Given the description of an element on the screen output the (x, y) to click on. 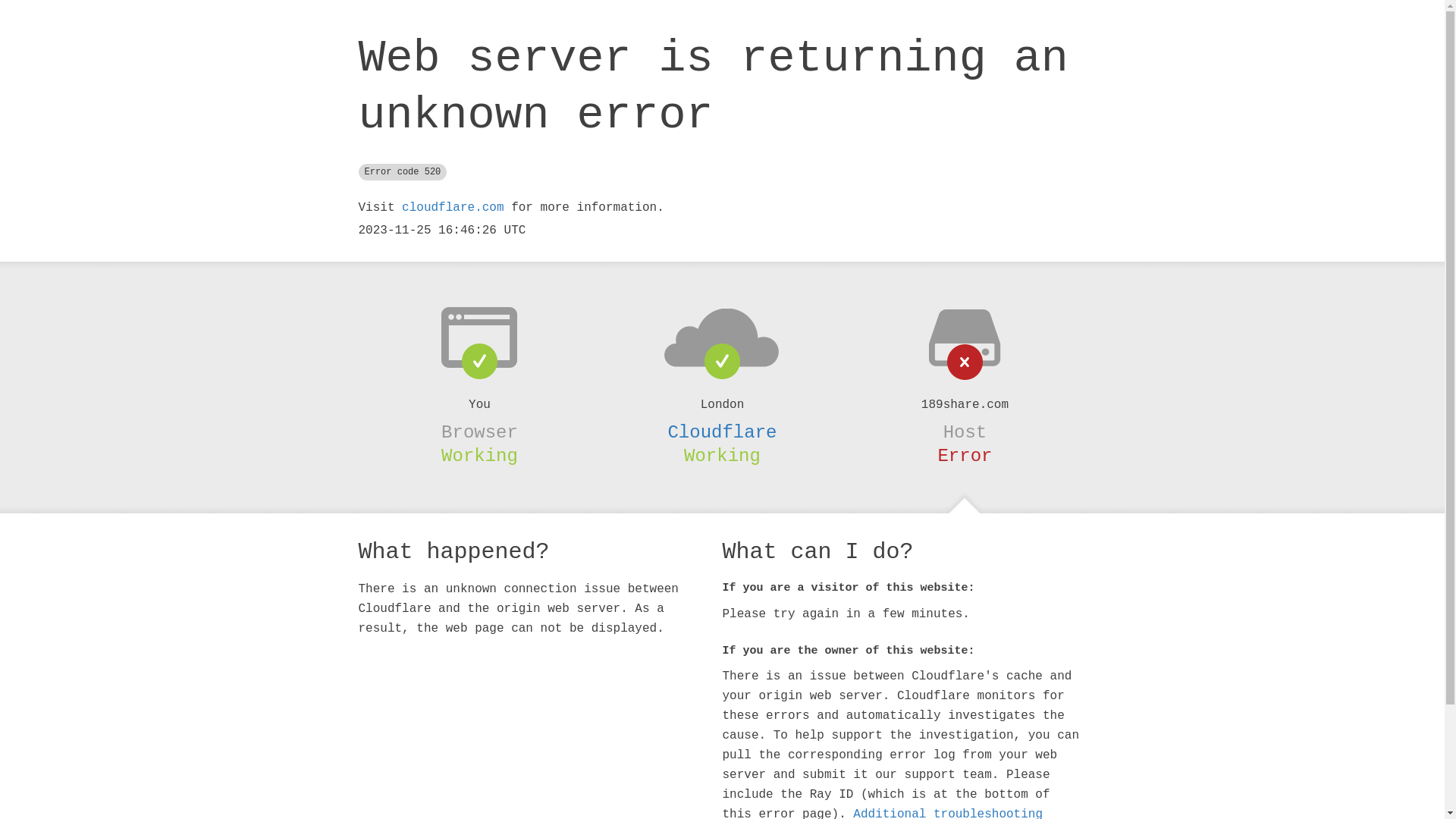
cloudflare.com Element type: text (452, 207)
Cloudflare Element type: text (721, 432)
